Given the description of an element on the screen output the (x, y) to click on. 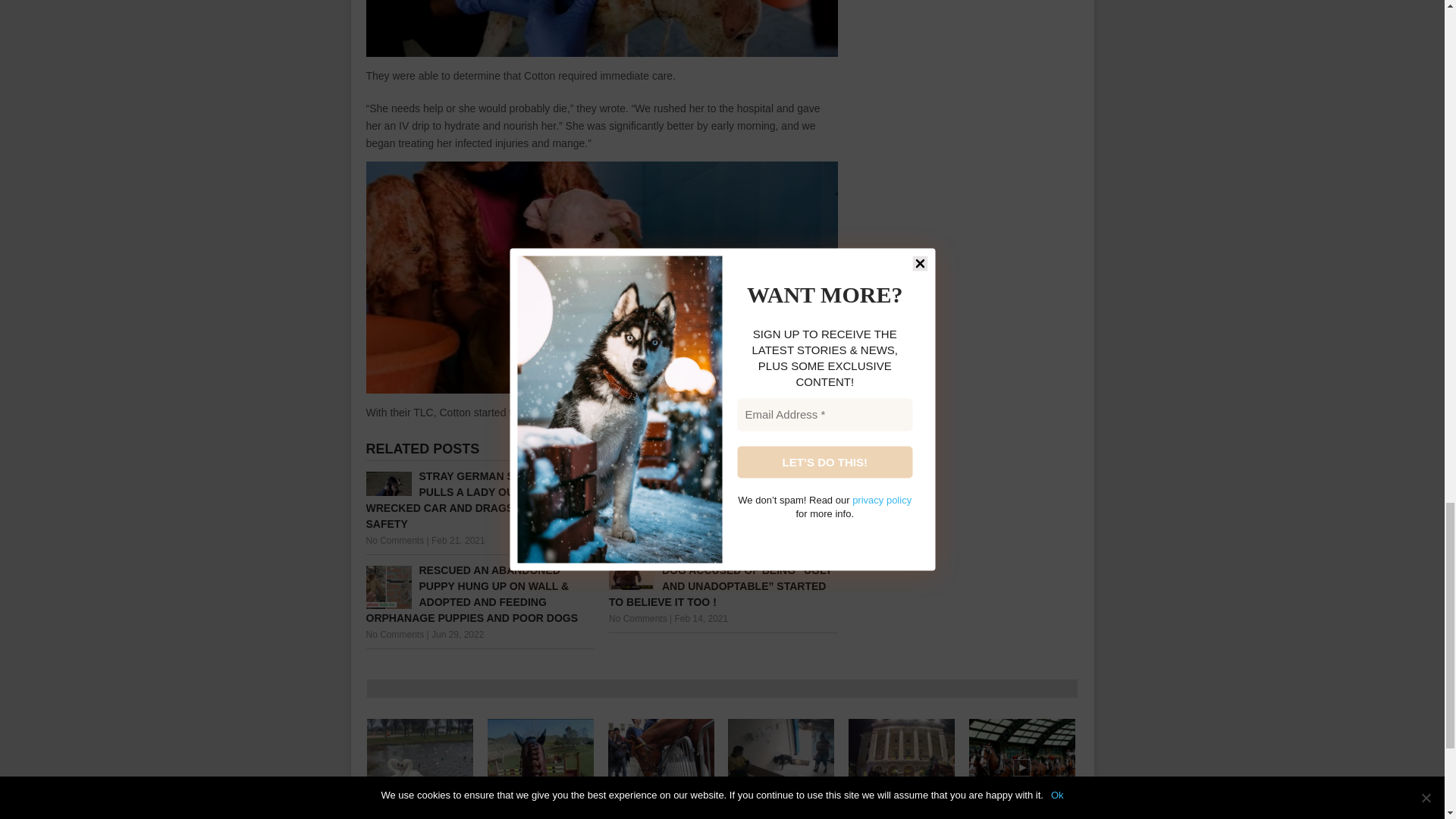
INJURED STRAY DOG BARGES INTO VET CLINIC TO ASK FOR HELP (781, 768)
RIDER CAPTURES ON CAMERA HORSE SHOW JUMPING EXPERIENCE (540, 768)
No Comments (394, 634)
No Comments (637, 524)
No Comments (637, 618)
No Comments (394, 540)
